Given the description of an element on the screen output the (x, y) to click on. 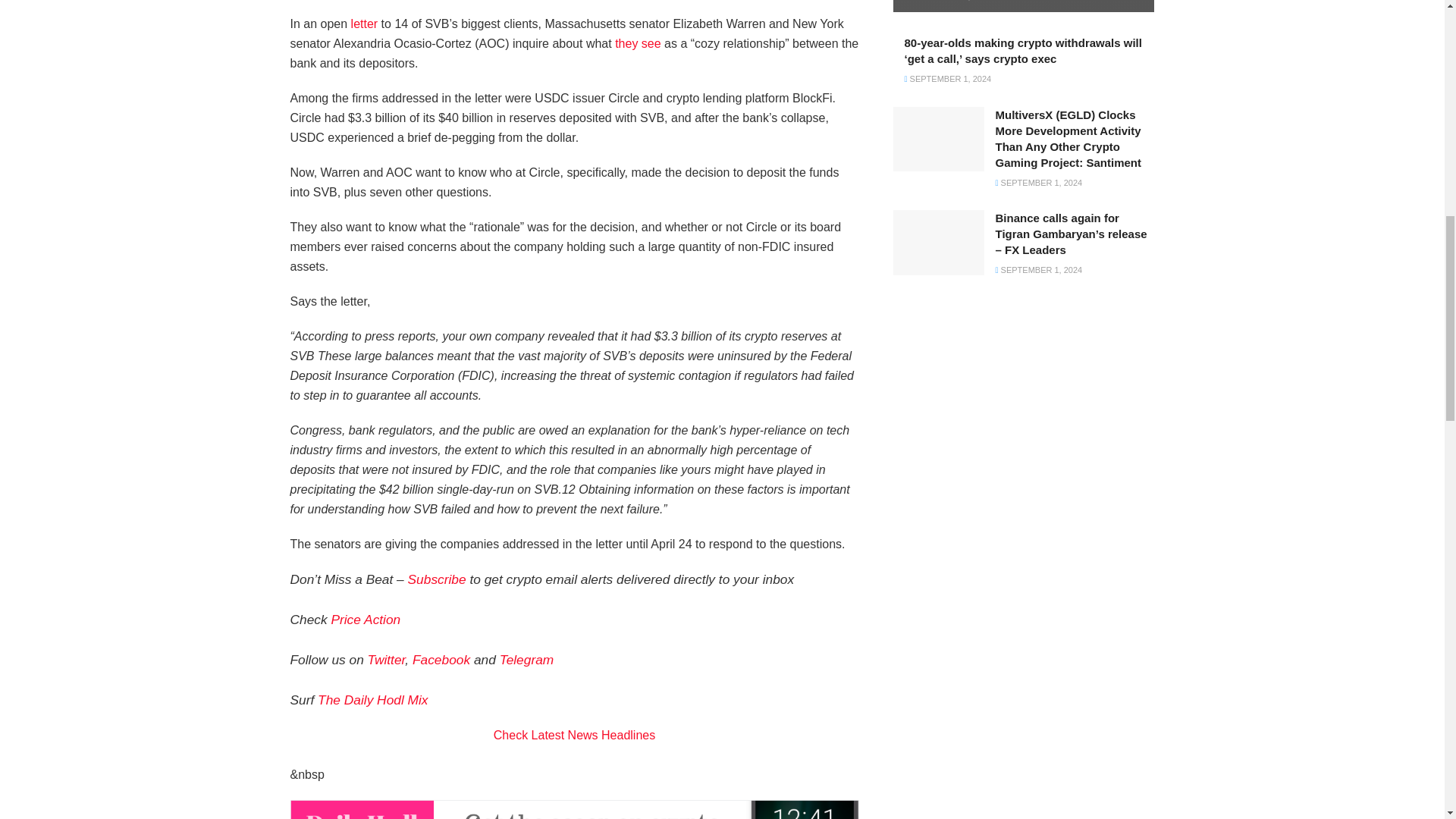
they see (637, 42)
letter (364, 23)
Subscribe (436, 579)
